Given the description of an element on the screen output the (x, y) to click on. 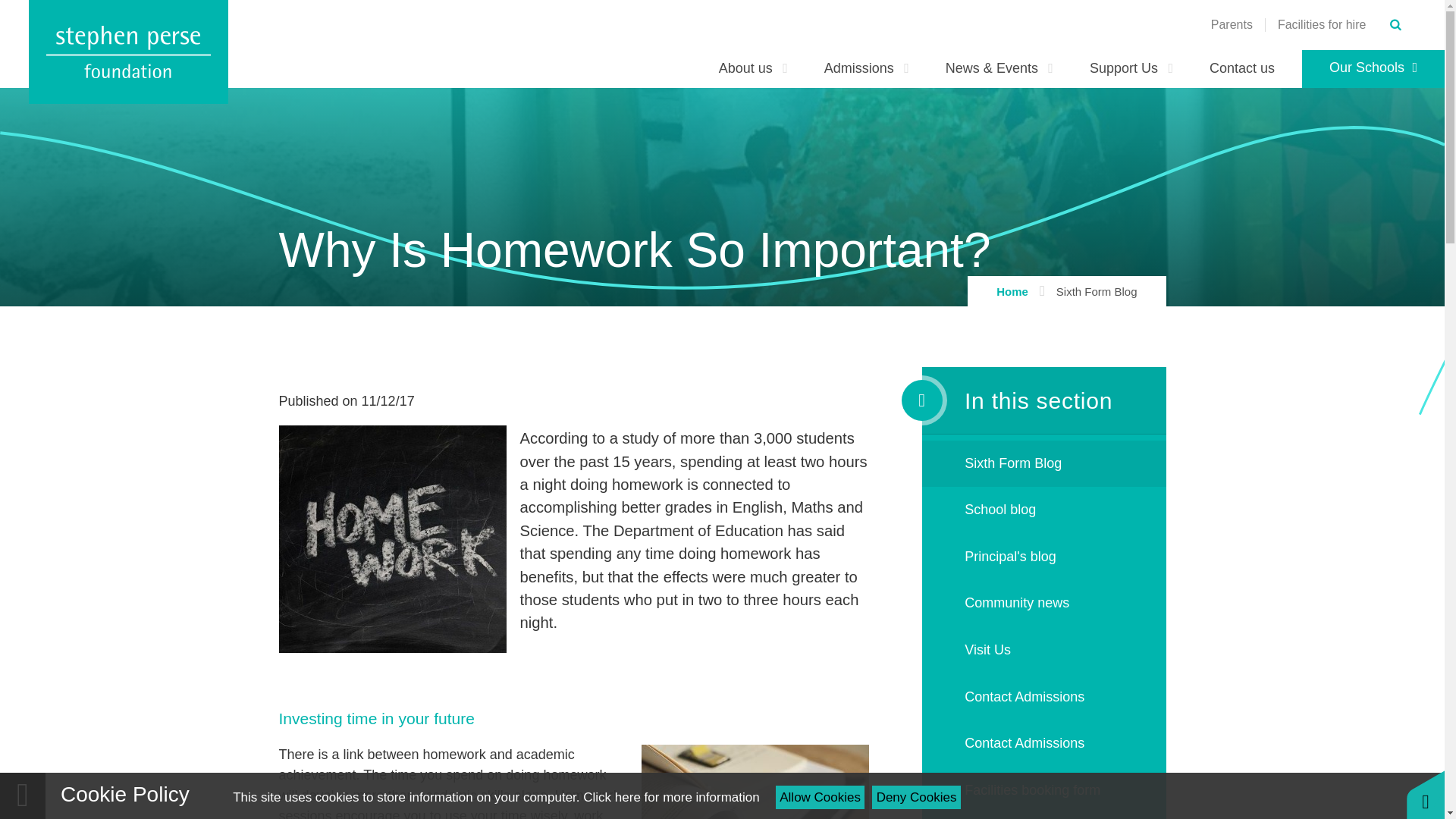
Facilities for hire (1321, 24)
See cookie policy (670, 797)
home (128, 52)
Parents (1231, 24)
About us (753, 67)
Admissions (866, 67)
